Given the description of an element on the screen output the (x, y) to click on. 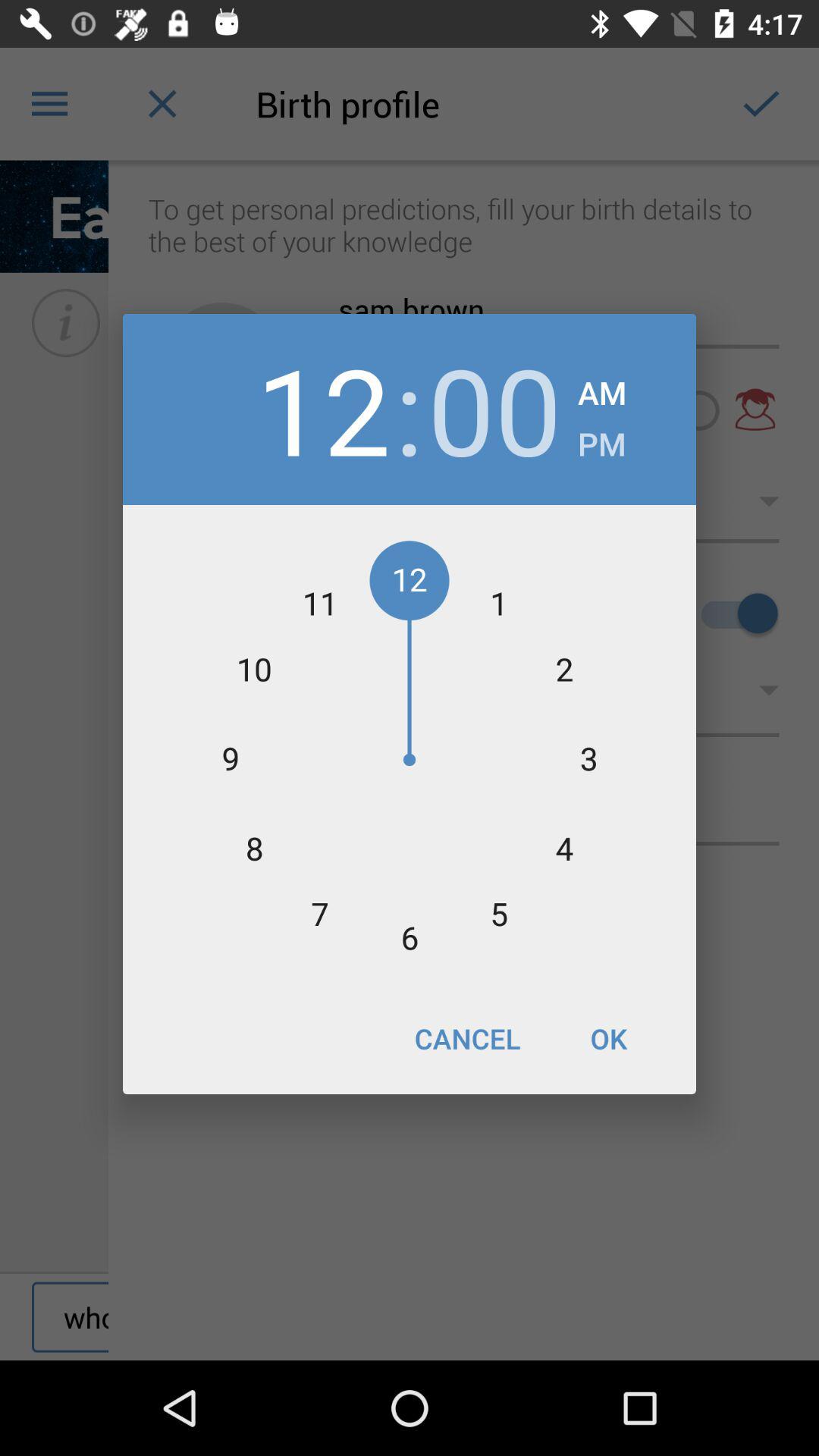
turn on the icon next to the ok icon (467, 1038)
